Given the description of an element on the screen output the (x, y) to click on. 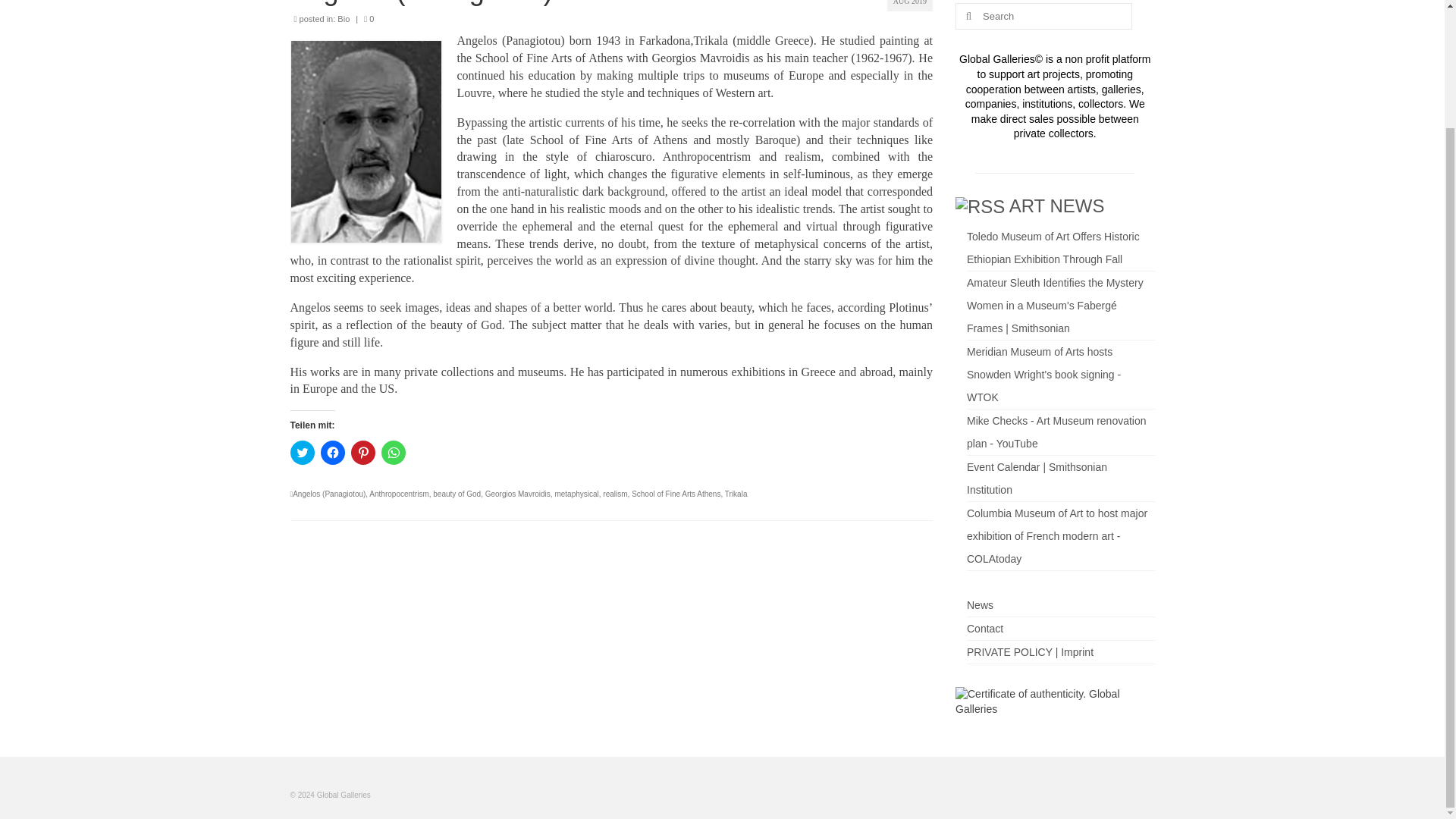
Click to share on Facebook (331, 452)
Bio (343, 18)
Anthropocentrism (398, 493)
Click to share on Pinterest (362, 452)
Click to share on Twitter (301, 452)
Certificate of authenticity. Global Galleries (1054, 710)
Click to share on WhatsApp (392, 452)
